Given the description of an element on the screen output the (x, y) to click on. 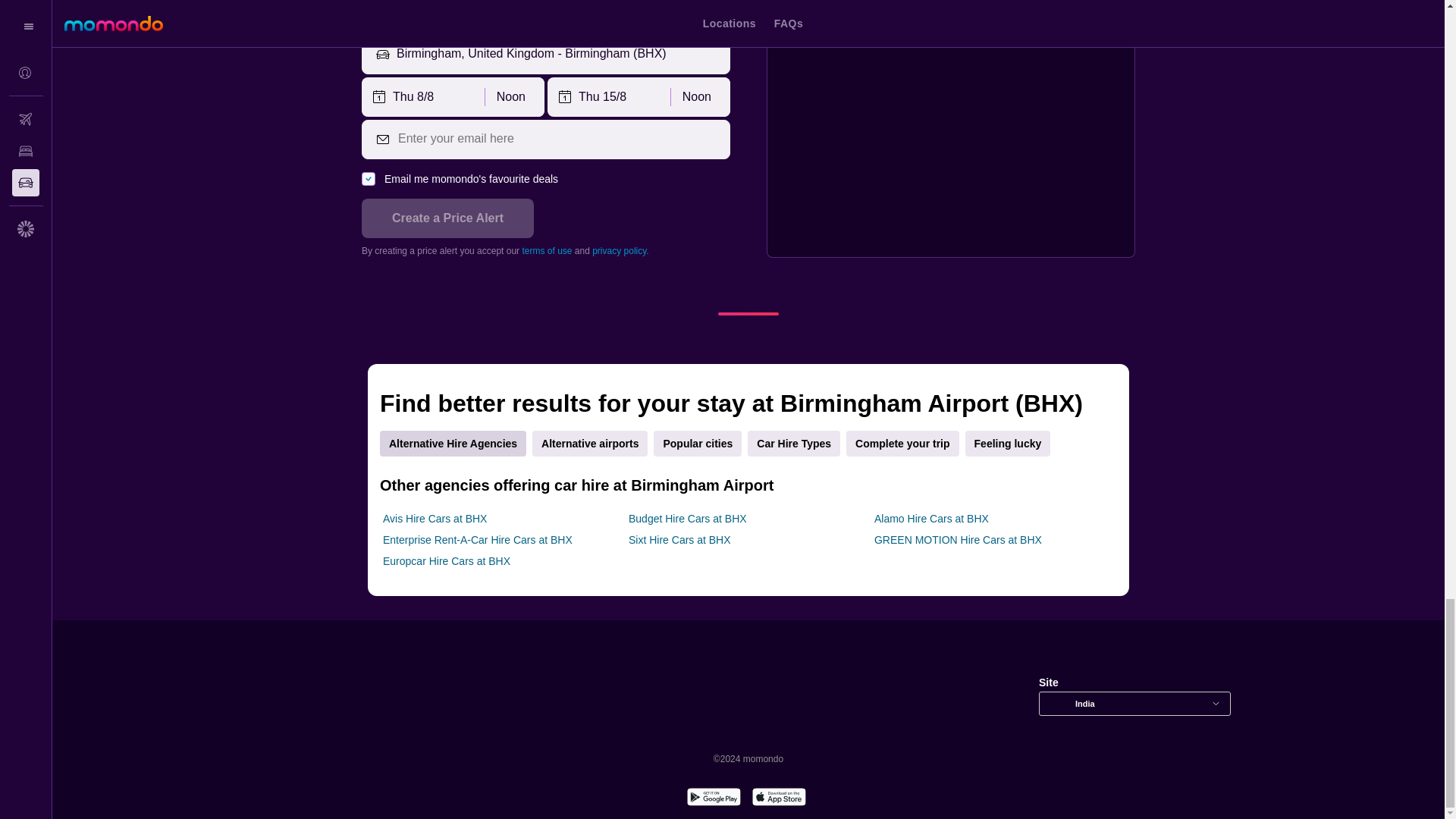
Budget Hire Cars at BHX (687, 518)
Europcar Hire Cars at BHX (446, 560)
Popular cities (697, 443)
Get it on Google Play (713, 798)
Alternative airports (589, 443)
Alternative Hire Agencies (452, 443)
Create a Price Alert (447, 218)
privacy policy. (619, 250)
Car Hire Types (794, 443)
Feeling lucky (1008, 443)
Download on the App Store (778, 798)
Avis Hire Cars at BHX (434, 518)
Complete your trip (901, 443)
terms of use (546, 250)
Sixt Hire Cars at BHX (679, 539)
